Given the description of an element on the screen output the (x, y) to click on. 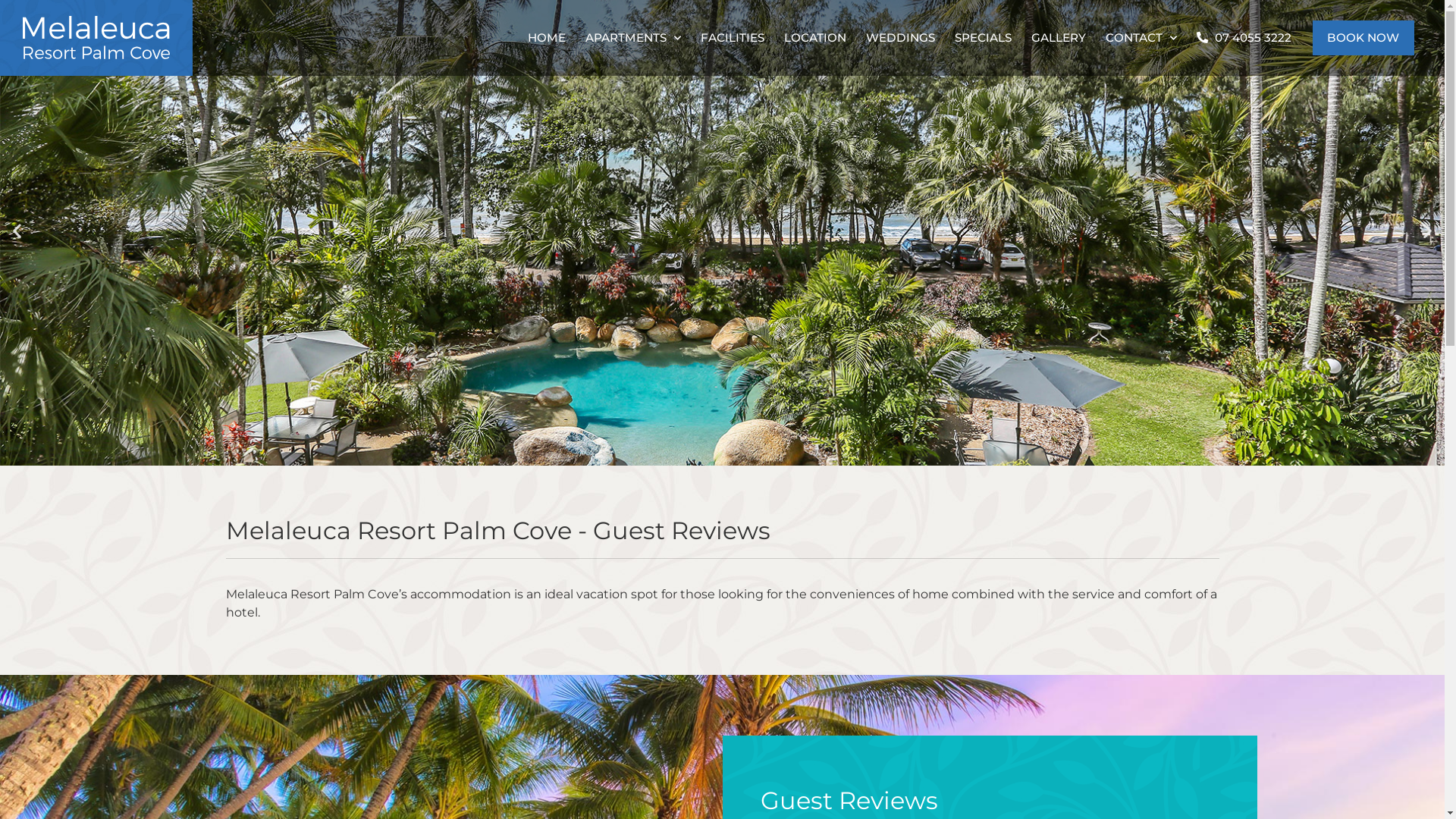
FACILITIES Element type: text (731, 37)
APARTMENTS Element type: text (632, 37)
07 4055 3222 Element type: text (1243, 37)
WEDDINGS Element type: text (899, 37)
LOCATION Element type: text (814, 37)
HOME Element type: text (545, 37)
CONTACT Element type: text (1140, 37)
GALLERY Element type: text (1057, 37)
SPECIALS Element type: text (982, 37)
BOOK NOW Element type: text (1362, 37)
